Given the description of an element on the screen output the (x, y) to click on. 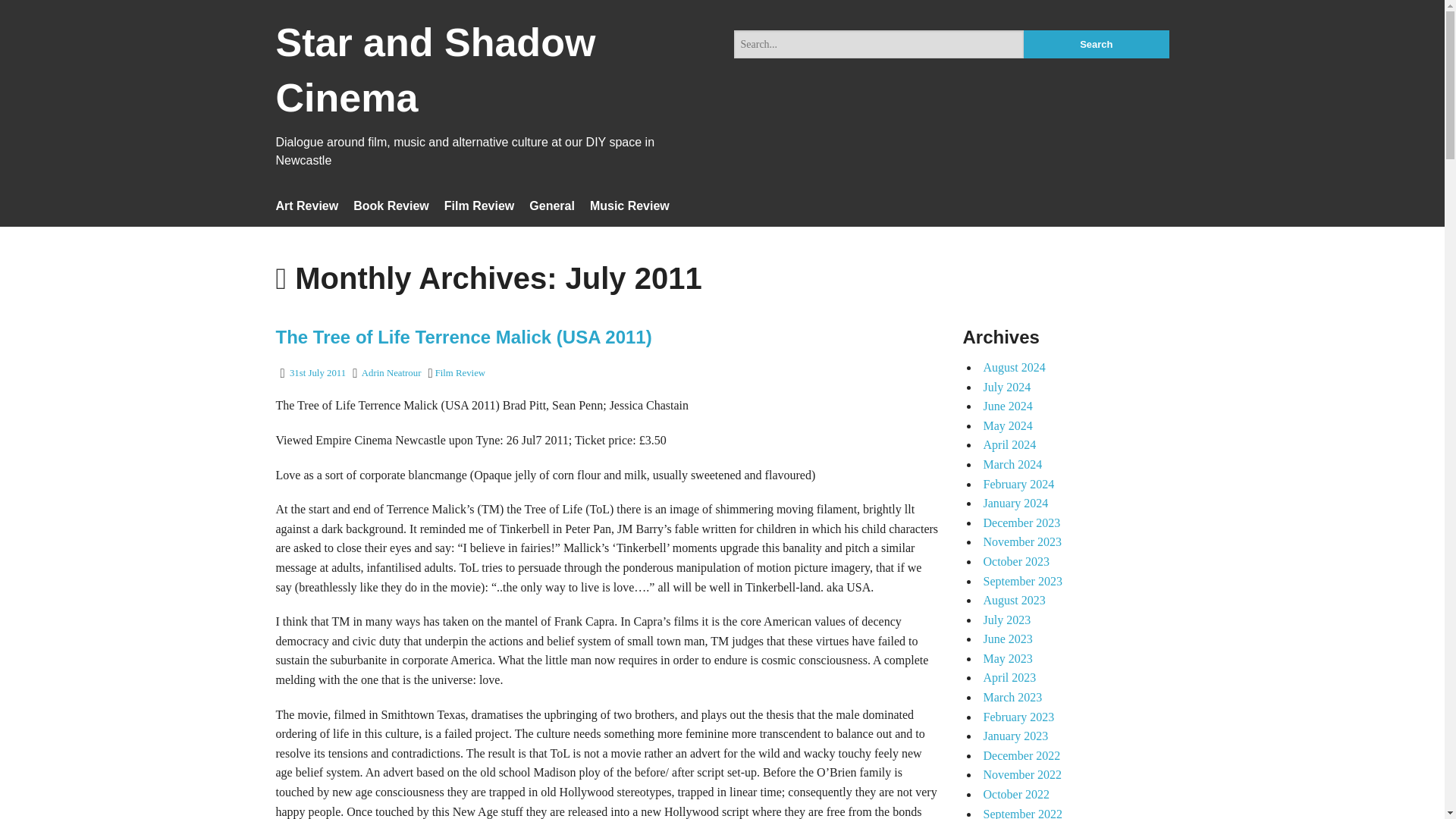
August 2023 (1013, 599)
March 2024 (1012, 463)
Search for: (879, 44)
Search (1096, 44)
June 2024 (1007, 405)
Search (1096, 44)
November 2023 (1021, 541)
July 2024 (1006, 386)
October 2023 (1015, 561)
January 2024 (1015, 502)
